Given the description of an element on the screen output the (x, y) to click on. 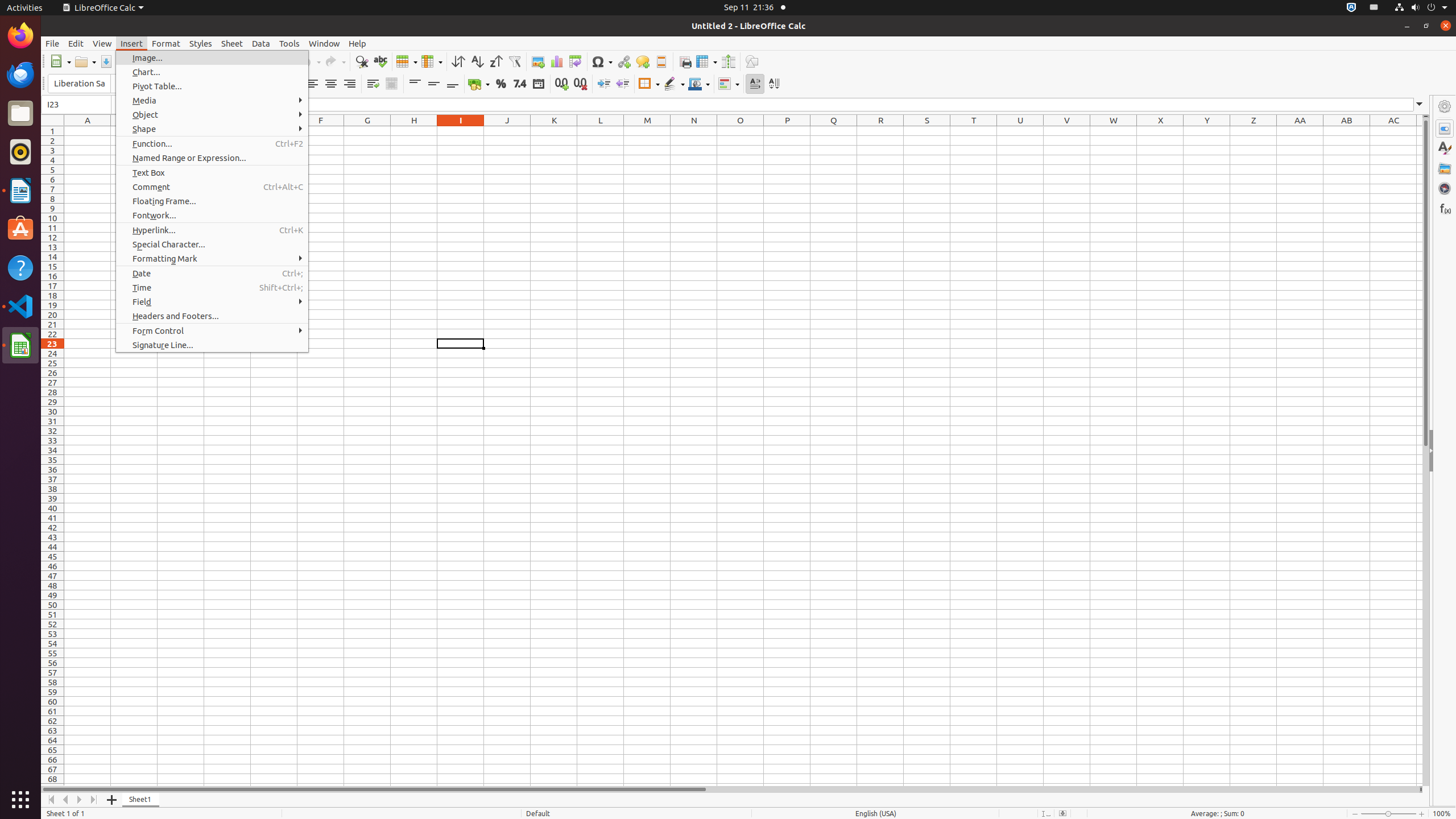
Find & Replace Element type: toggle-button (361, 61)
O1 Element type: table-cell (740, 130)
Chart... Element type: menu-item (212, 71)
Redo Element type: push-button (334, 61)
File Element type: menu (51, 43)
